Given the description of an element on the screen output the (x, y) to click on. 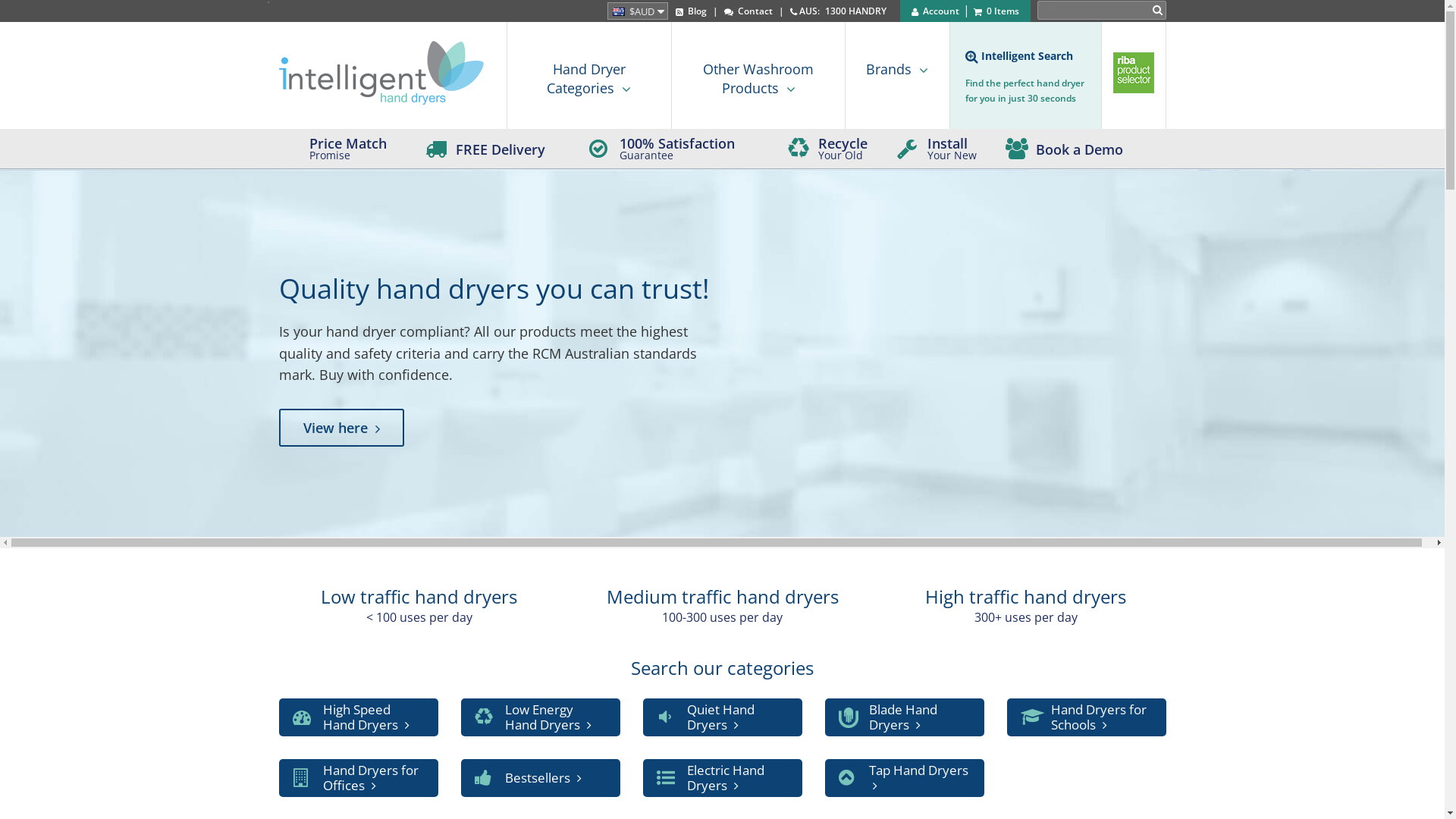
Electric Hand Dryers Element type: text (722, 778)
Hand Dryers for Offices Element type: text (358, 778)
Blog Element type: text (690, 10)
Low traffic hand dryers Element type: text (418, 595)
Account Element type: text (935, 10)
Low Energy Hand Dryers Element type: text (540, 717)
Tap Hand Dryers Element type: text (904, 778)
Blade Hand Dryers Element type: text (904, 717)
High Speed Hand Dryers Element type: text (358, 717)
View here Element type: text (341, 427)
Intelligent Hand Dryers Element type: text (381, 72)
Contact Element type: text (747, 10)
Book a Demo Element type: text (1100, 149)
Quiet Hand Dryers Element type: text (722, 717)
High traffic hand dryers Element type: text (1025, 595)
Hand Dryers for Schools Element type: text (1086, 717)
Medium traffic hand dryers Element type: text (722, 595)
0 Items Element type: text (996, 10)
Bestsellers Element type: text (540, 778)
